Given the description of an element on the screen output the (x, y) to click on. 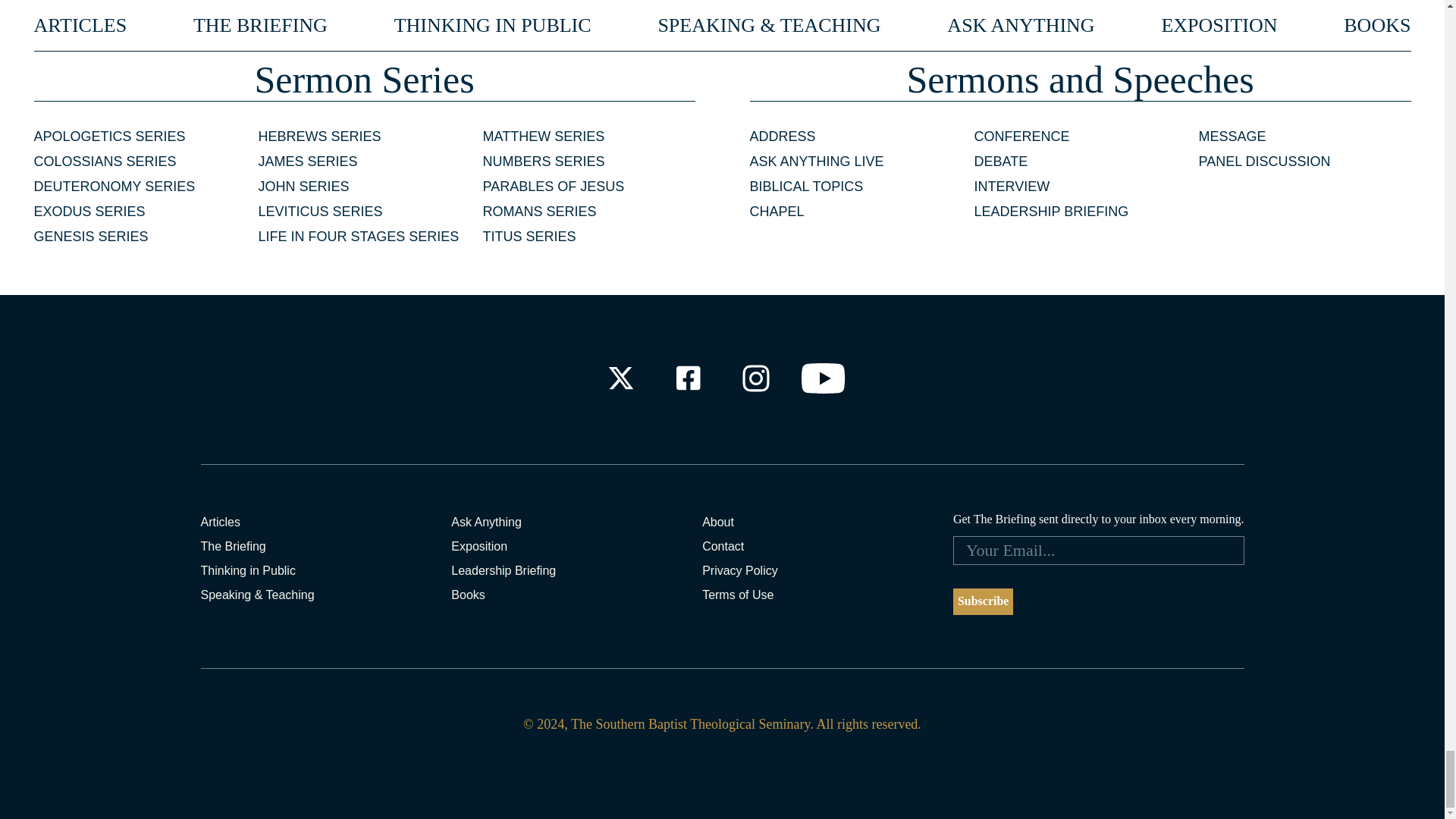
Check out our Facebook Profile (687, 377)
Check out our Instagram Profile (755, 377)
Check out our X Profile (620, 377)
Subscribe (983, 601)
Check out our Youtube Channel (822, 377)
